Given the description of an element on the screen output the (x, y) to click on. 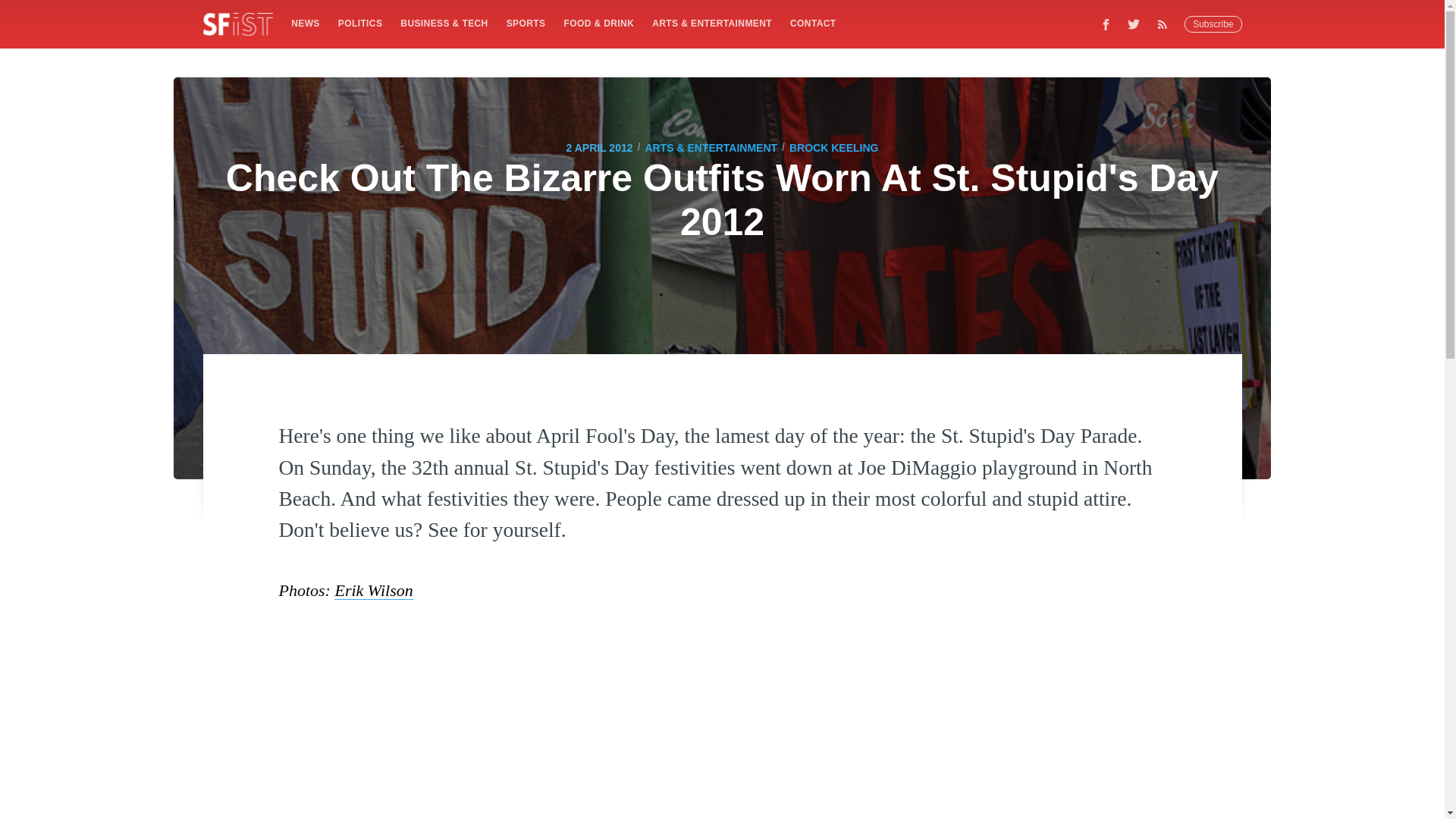
NEWS (305, 23)
Twitter (1133, 23)
Facebook (1106, 23)
Subscribe (1213, 23)
BROCK KEELING (833, 147)
RSS (1166, 23)
POLITICS (360, 23)
CONTACT (812, 23)
SPORTS (525, 23)
Erik Wilson (373, 589)
